Given the description of an element on the screen output the (x, y) to click on. 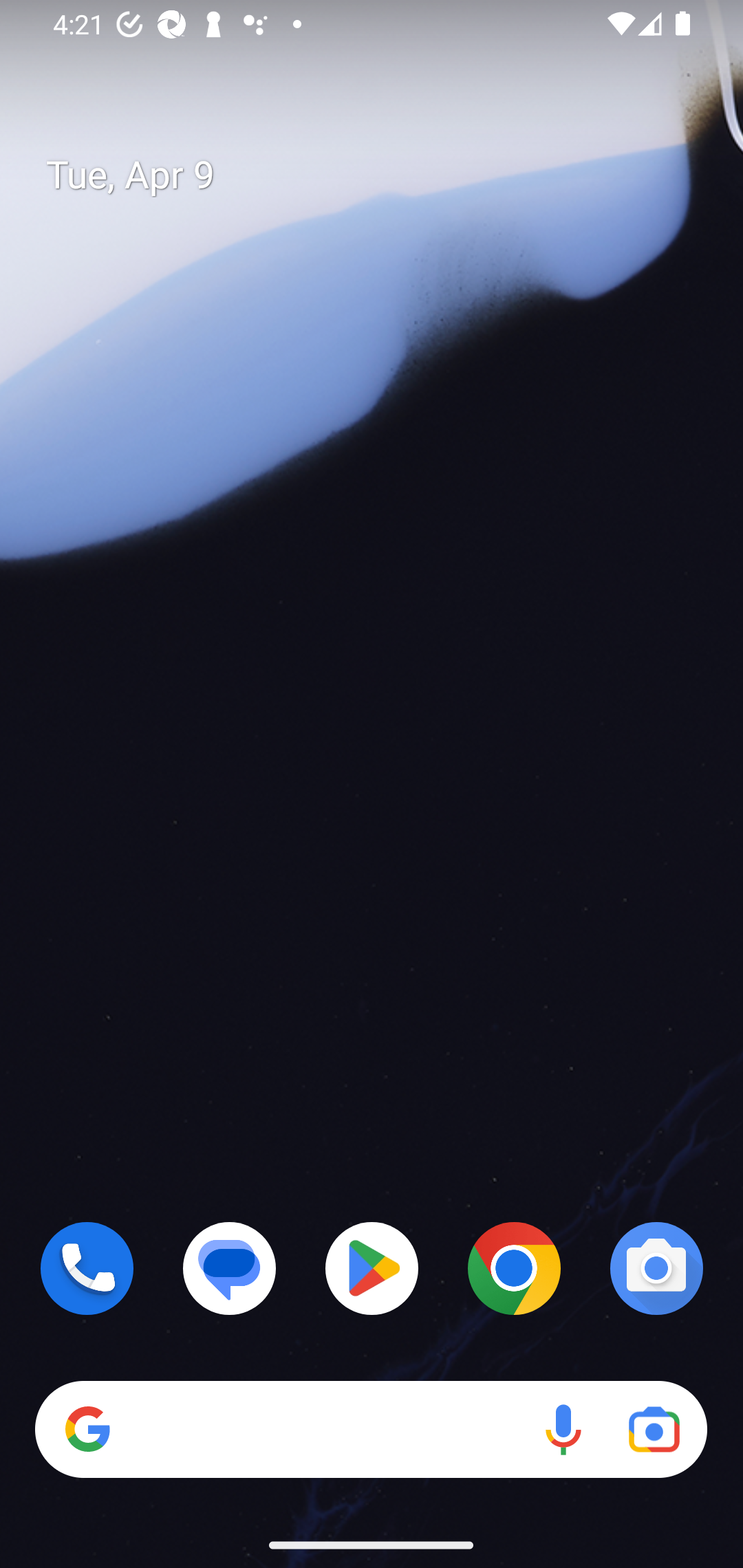
Tue, Apr 9 (386, 175)
Phone (86, 1268)
Messages (229, 1268)
Play Store (371, 1268)
Chrome (513, 1268)
Camera (656, 1268)
Voice search (562, 1429)
Google Lens (653, 1429)
